Given the description of an element on the screen output the (x, y) to click on. 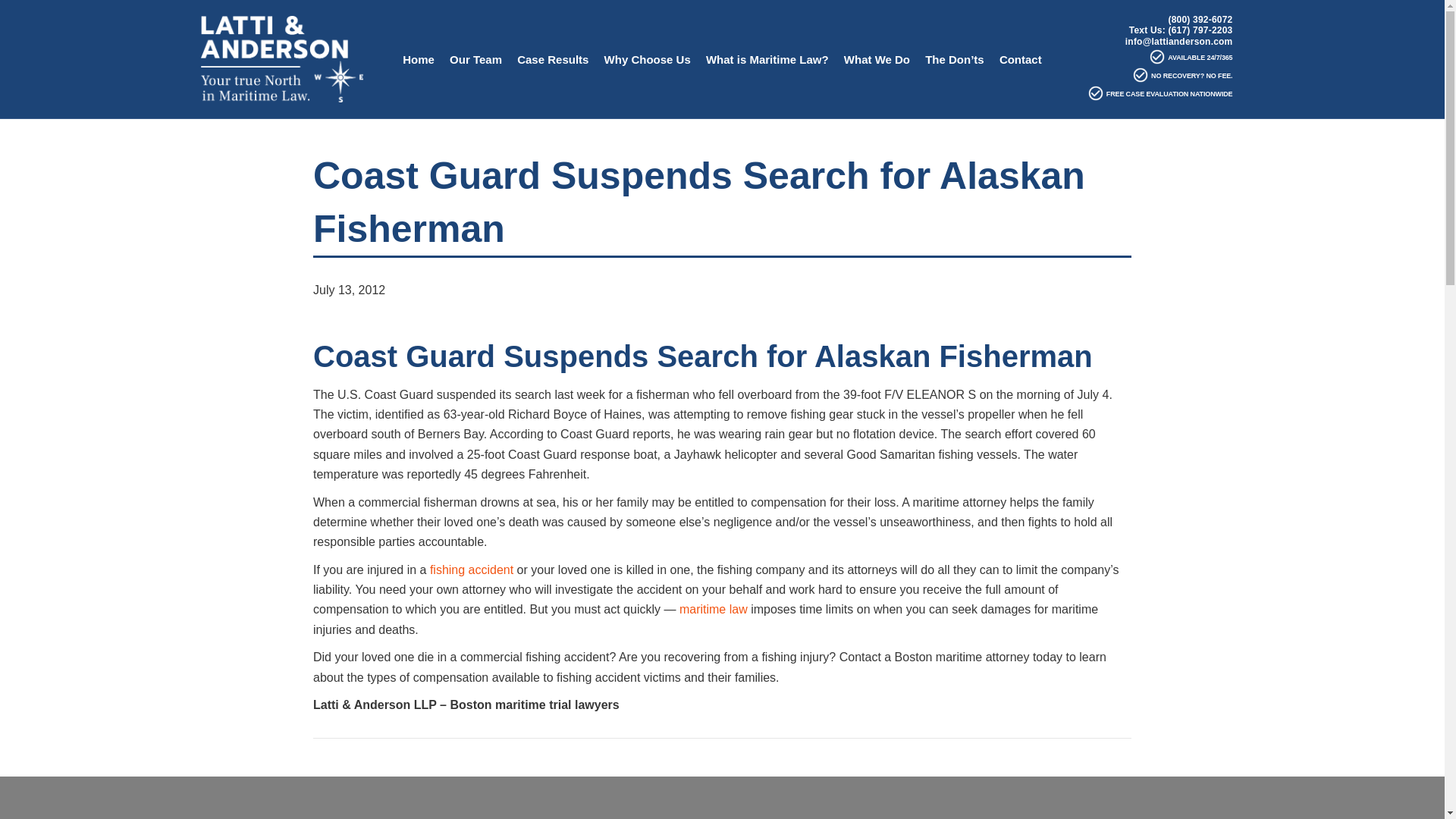
Link to information about maritime law (713, 608)
Link to information about fishing accidents (471, 569)
